Given the description of an element on the screen output the (x, y) to click on. 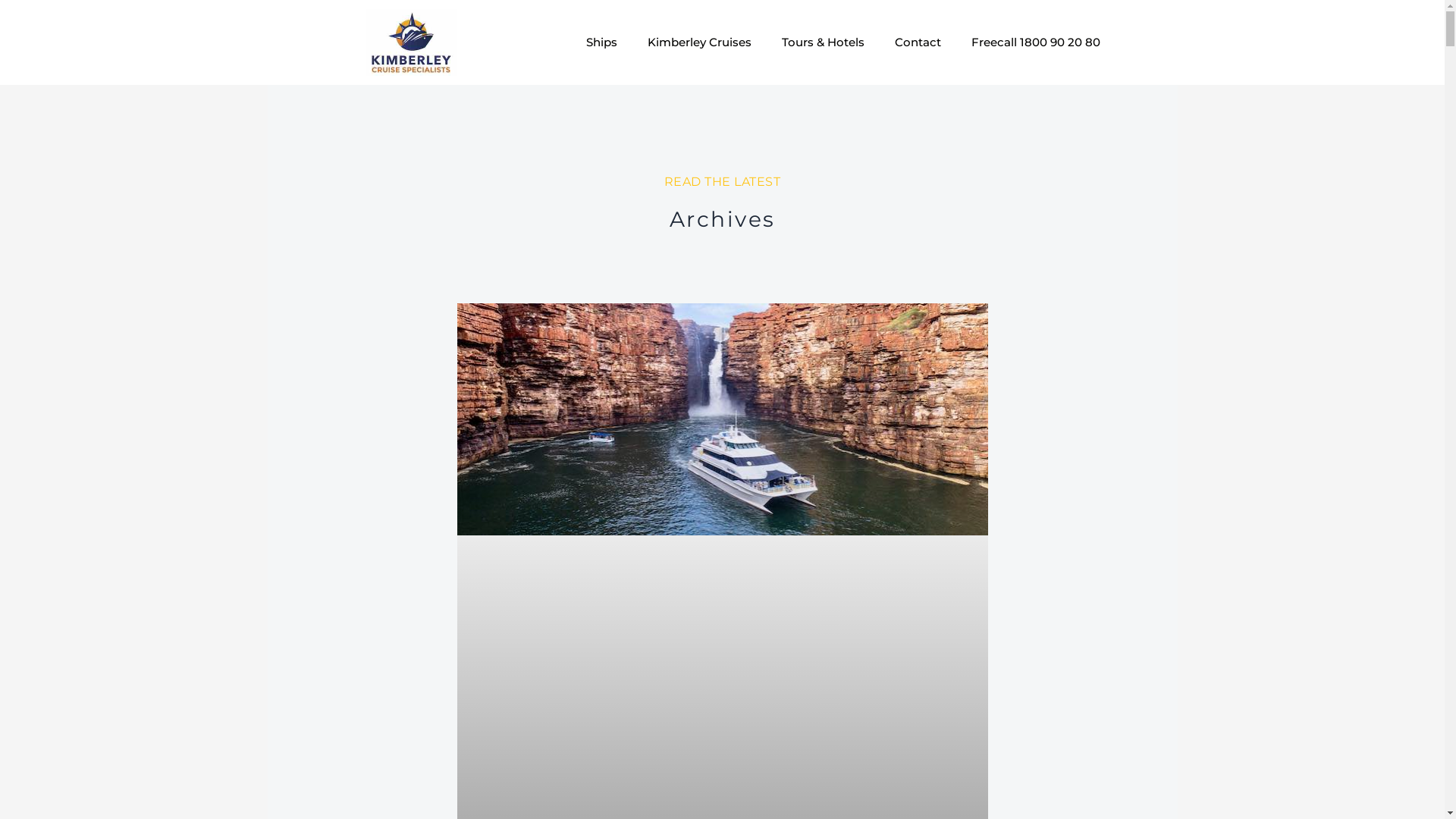
Tours & Hotels Element type: text (822, 42)
Freecall 1800 90 20 80 Element type: text (1035, 42)
Kimberley Cruises Element type: text (699, 42)
Ships Element type: text (601, 42)
Contact Element type: text (917, 42)
